Given the description of an element on the screen output the (x, y) to click on. 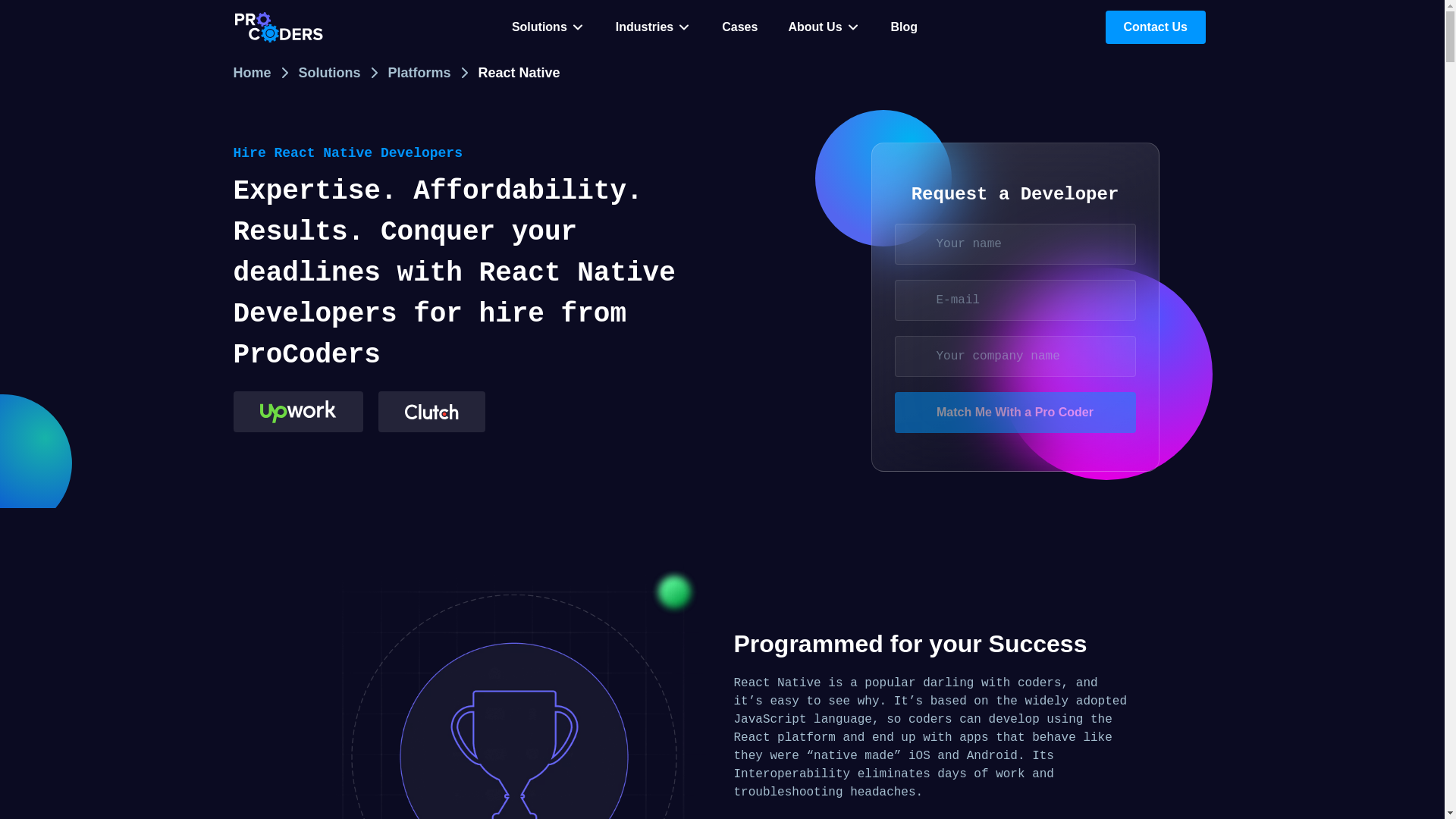
Solutions (548, 27)
Match Me With a Pro Coder (1015, 412)
